Given the description of an element on the screen output the (x, y) to click on. 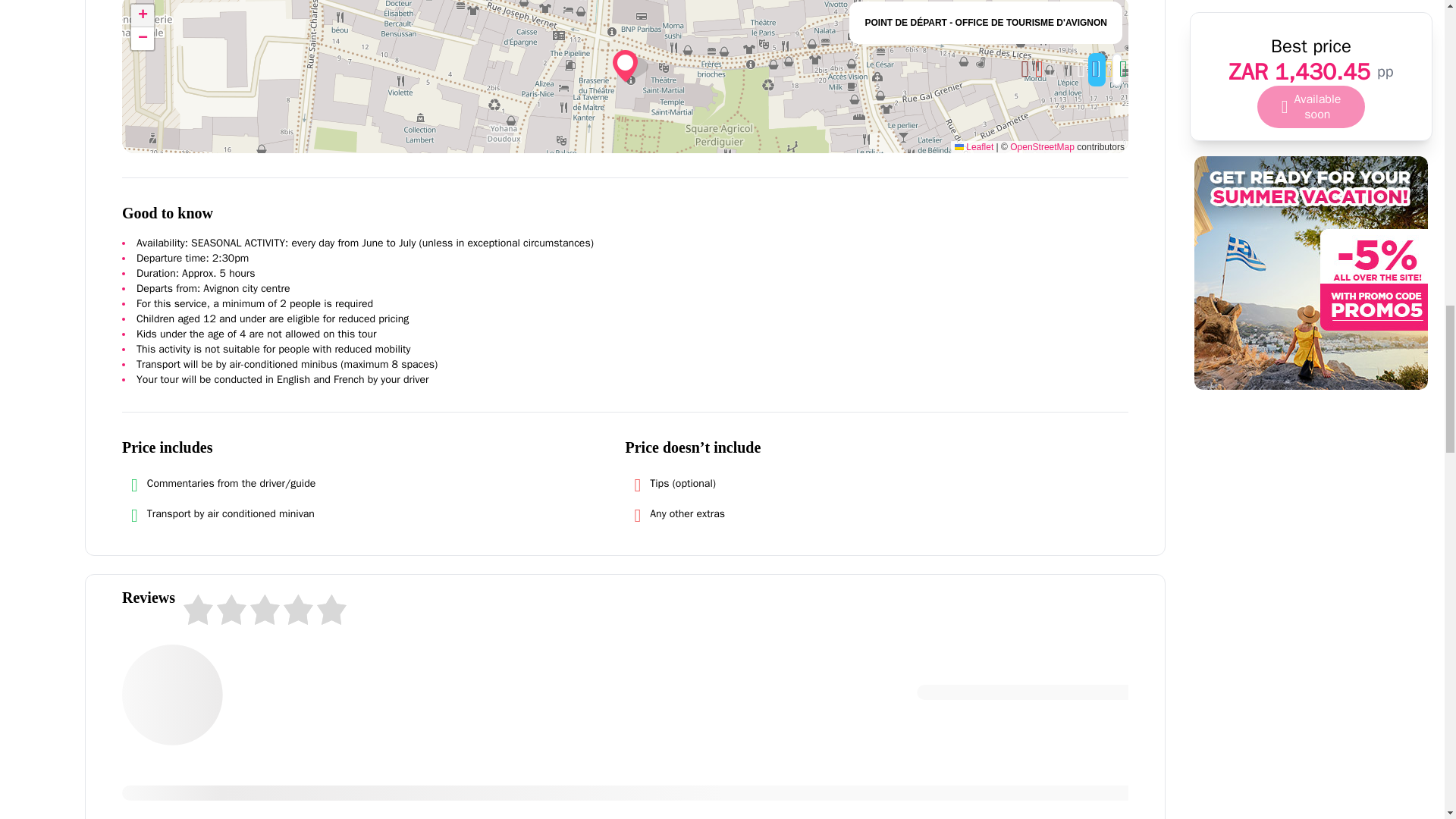
A JavaScript library for interactive maps (973, 146)
Leaflet (973, 146)
OpenStreetMap (1042, 146)
Zoom in (142, 15)
Zoom out (142, 38)
